Given the description of an element on the screen output the (x, y) to click on. 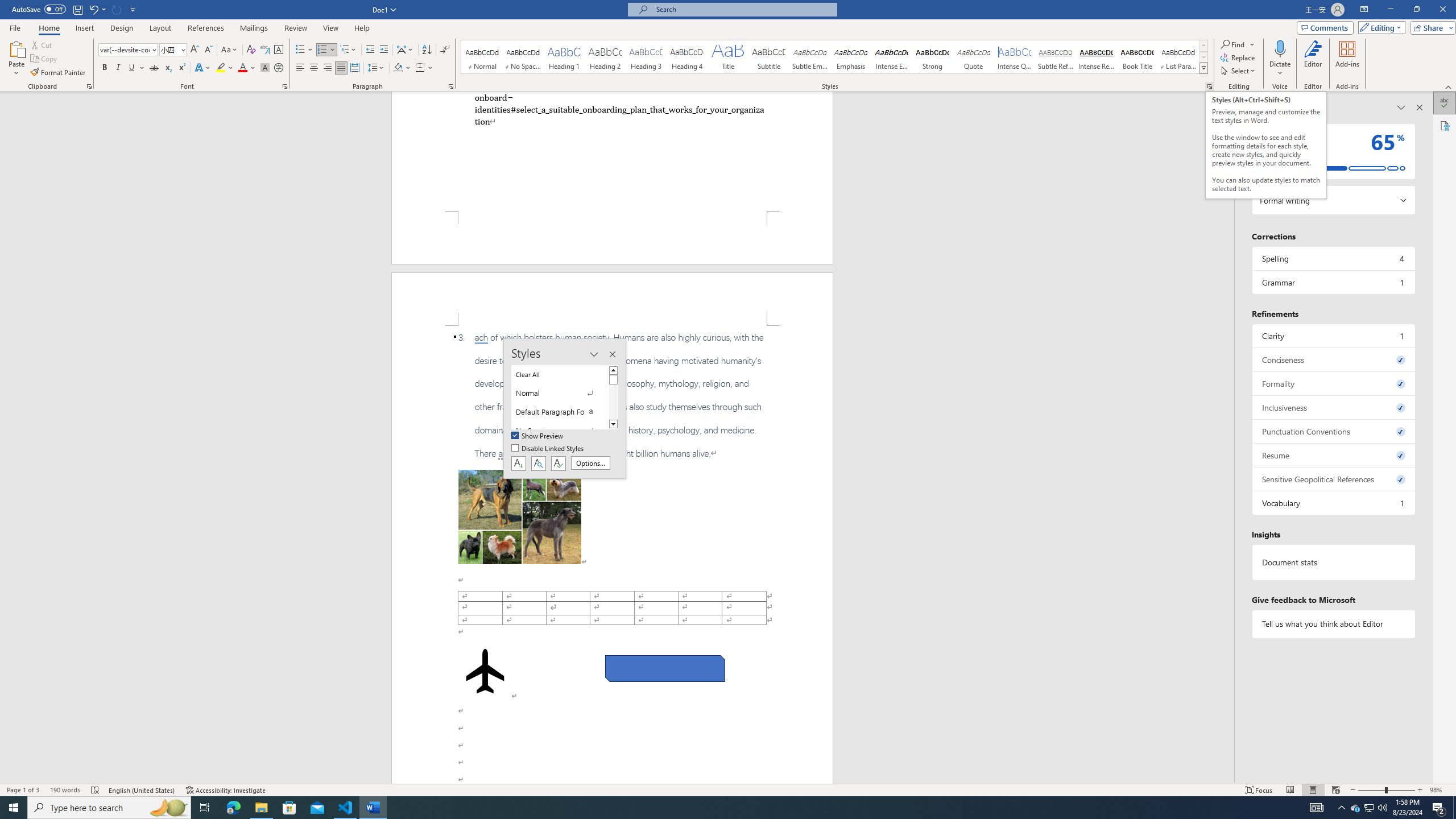
Comments (1325, 27)
Select (1238, 69)
Footer -Section 1- (611, 237)
Editor Score 65% (1333, 151)
Ribbon Display Options (1364, 9)
Bullets (300, 49)
Row up (1203, 45)
Character Border (278, 49)
Distributed (354, 67)
Bullets (304, 49)
System (6, 6)
Mailings (253, 28)
Zoom (1386, 790)
